Given the description of an element on the screen output the (x, y) to click on. 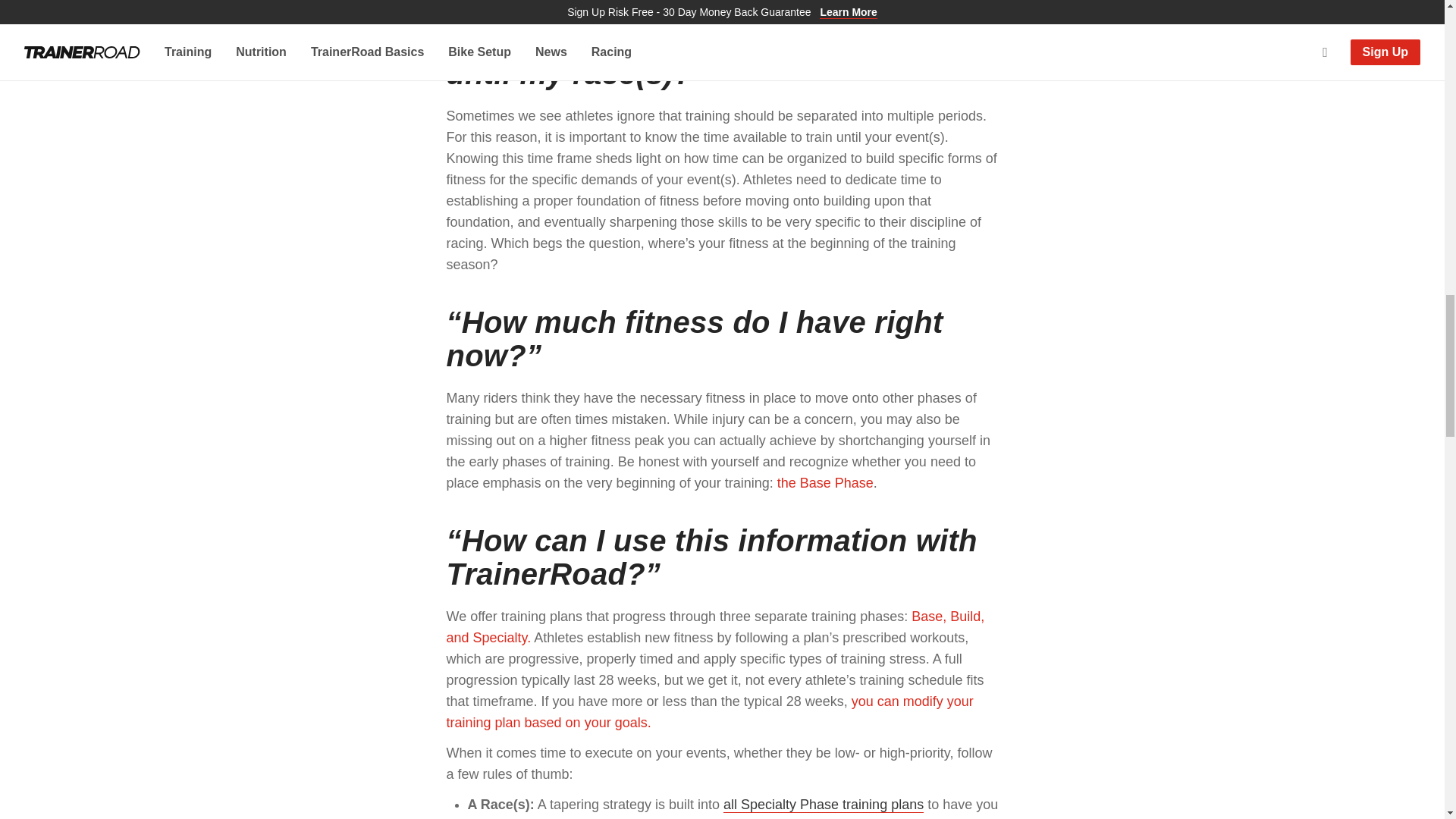
the Base Phase (825, 482)
all Specialty Phase training plans (823, 804)
Base, Build, and Specialty. (714, 627)
you can modify your training plan based on your goals. (708, 711)
